Given the description of an element on the screen output the (x, y) to click on. 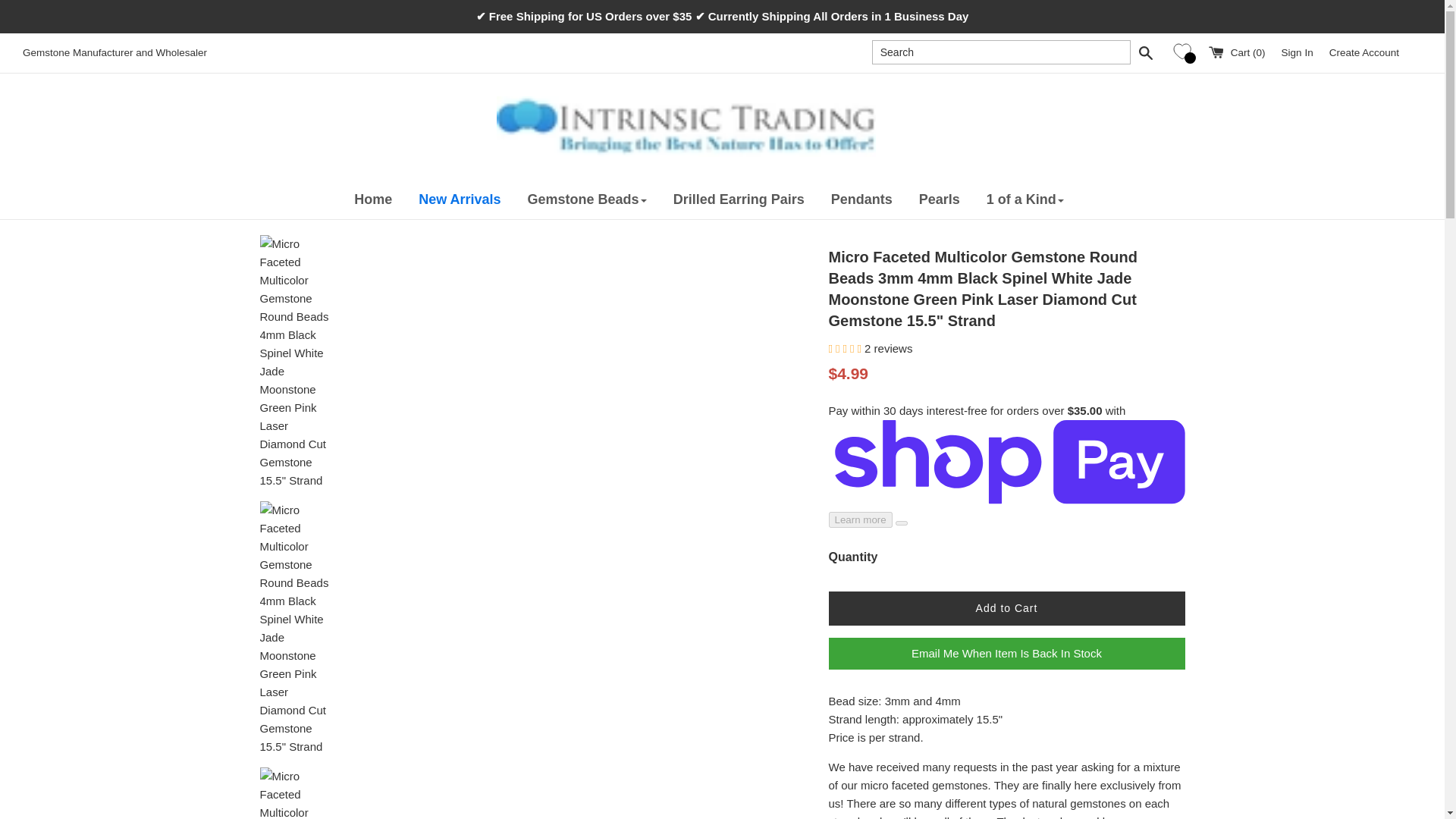
New Arrivals (473, 199)
Wishlist (1184, 52)
Create Account (1364, 52)
Gemstone Beads (599, 199)
Home (386, 199)
Sign In (1297, 52)
Search (1145, 52)
